Given the description of an element on the screen output the (x, y) to click on. 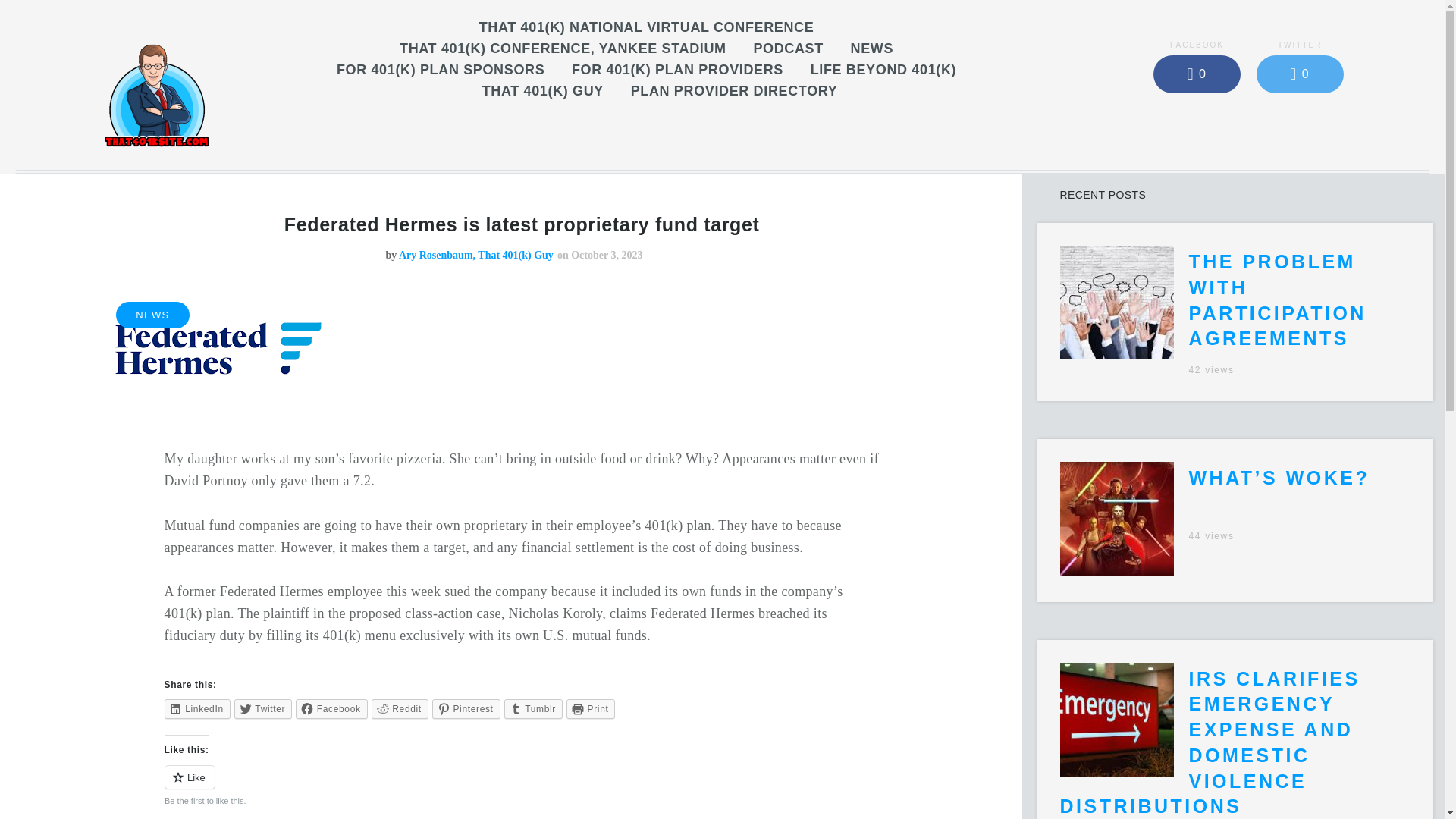
Click to share on LinkedIn (197, 709)
NEWS (871, 48)
Like or Reblog (521, 785)
Click to share on Pinterest (466, 709)
Click to share on Facebook (330, 709)
Click to share on Reddit (399, 709)
Click to print (590, 709)
PODCAST (788, 48)
Click to share on Twitter (263, 709)
Click to share on Tumblr (532, 709)
